Given the description of an element on the screen output the (x, y) to click on. 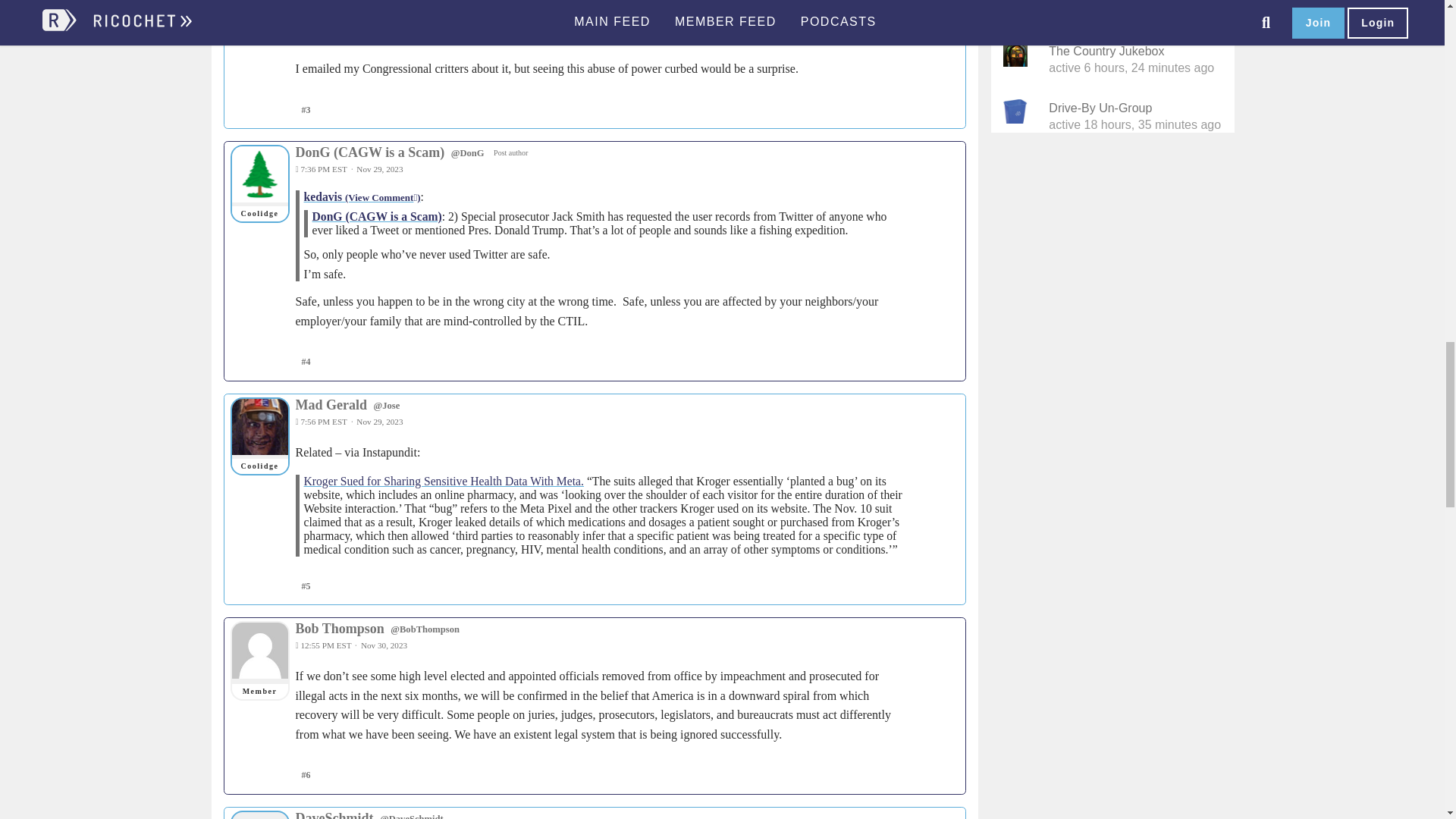
Bob Thompson (259, 650)
Mad Gerald (259, 426)
View comment in context. (361, 196)
